Given the description of an element on the screen output the (x, y) to click on. 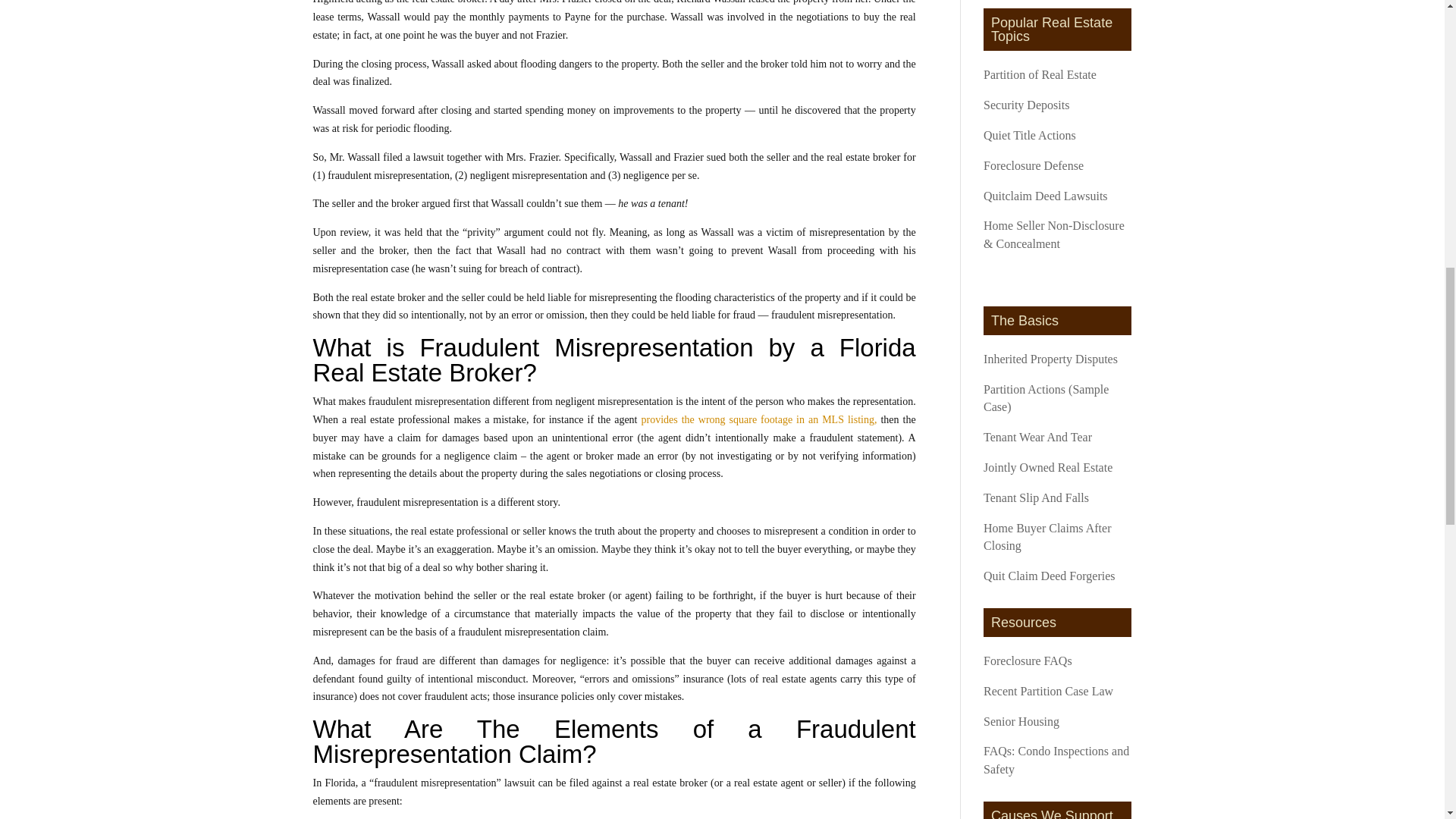
Quiet Title Actions (1029, 134)
Jointly Owned Real Estate (1048, 467)
Recent Partition Case Law (1048, 690)
provides the wrong square footage in an MLS listing, (759, 419)
FAQs: Condo Inspections and Safety (1056, 759)
Security Deposits (1026, 104)
Quit Claim Deed Forgeries (1049, 575)
Foreclosure FAQs (1027, 660)
Tenant Wear And Tear (1038, 436)
Inherited Property Disputes (1051, 358)
